Given the description of an element on the screen output the (x, y) to click on. 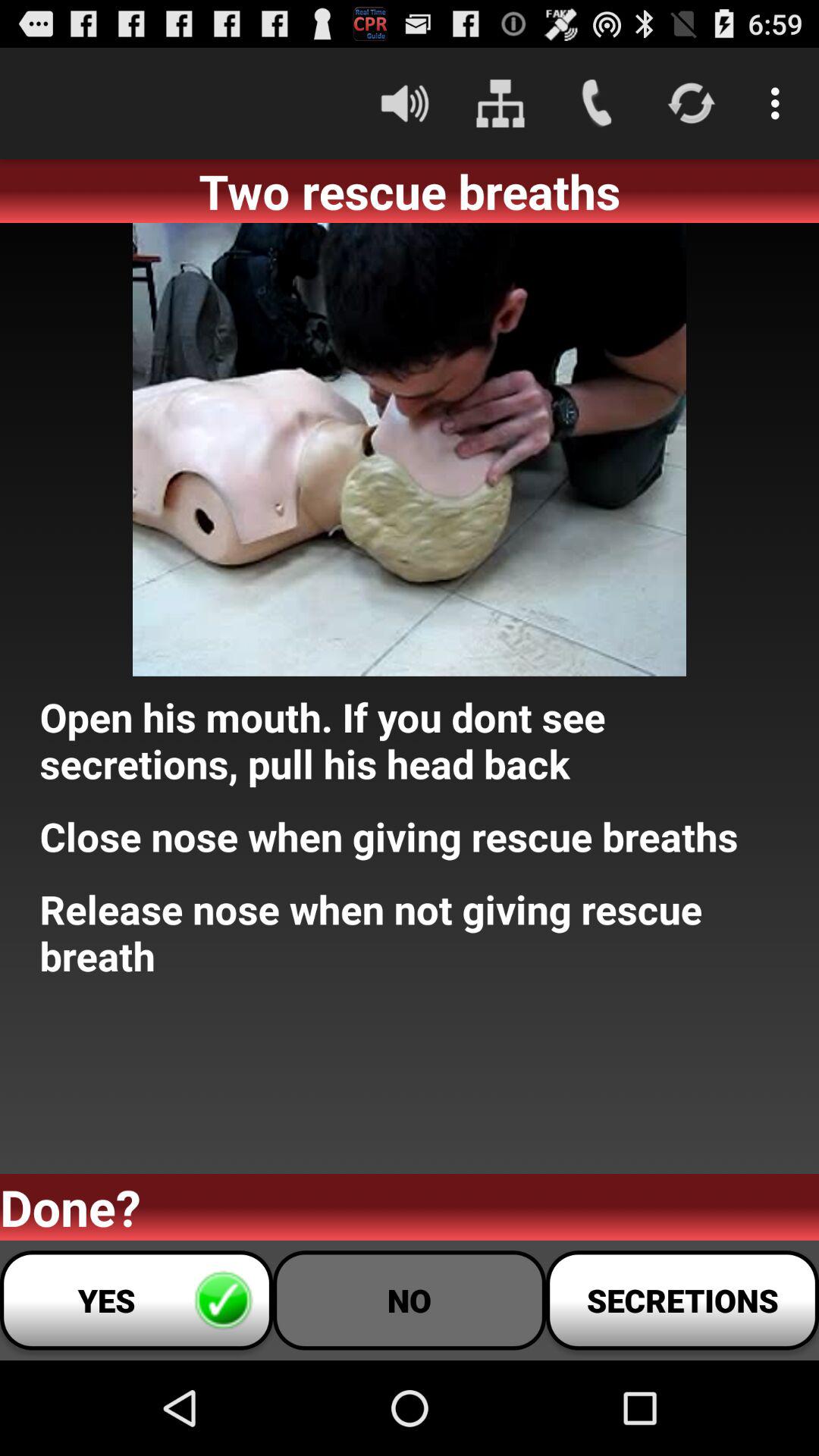
select icon below the done? (409, 1300)
